Given the description of an element on the screen output the (x, y) to click on. 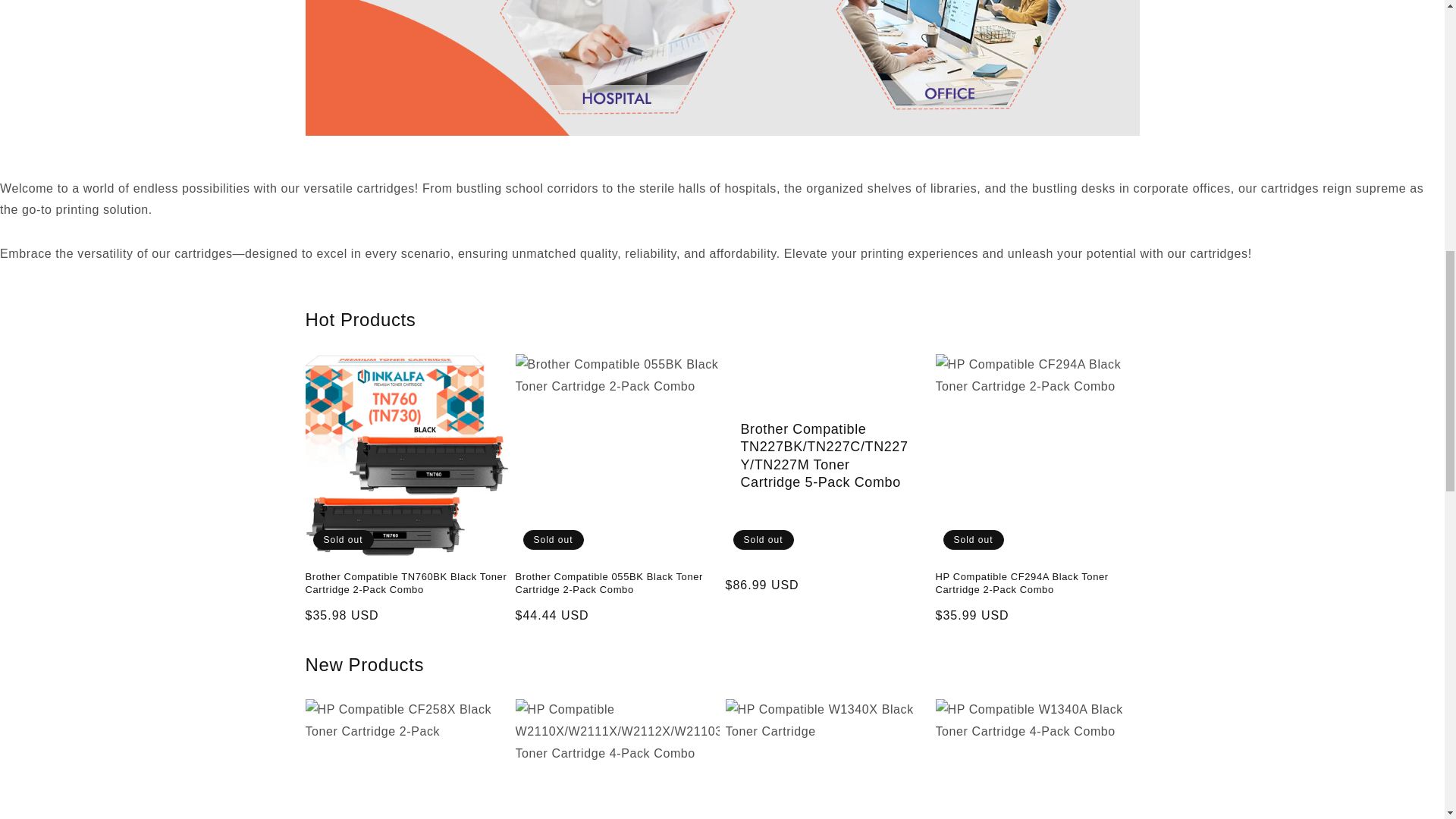
Brother Compatible 055BK Black Toner Cartridge 2-Pack Combo (617, 583)
HP Compatible CF294A Black Toner Cartridge 2-Pack Combo (1038, 583)
